Given the description of an element on the screen output the (x, y) to click on. 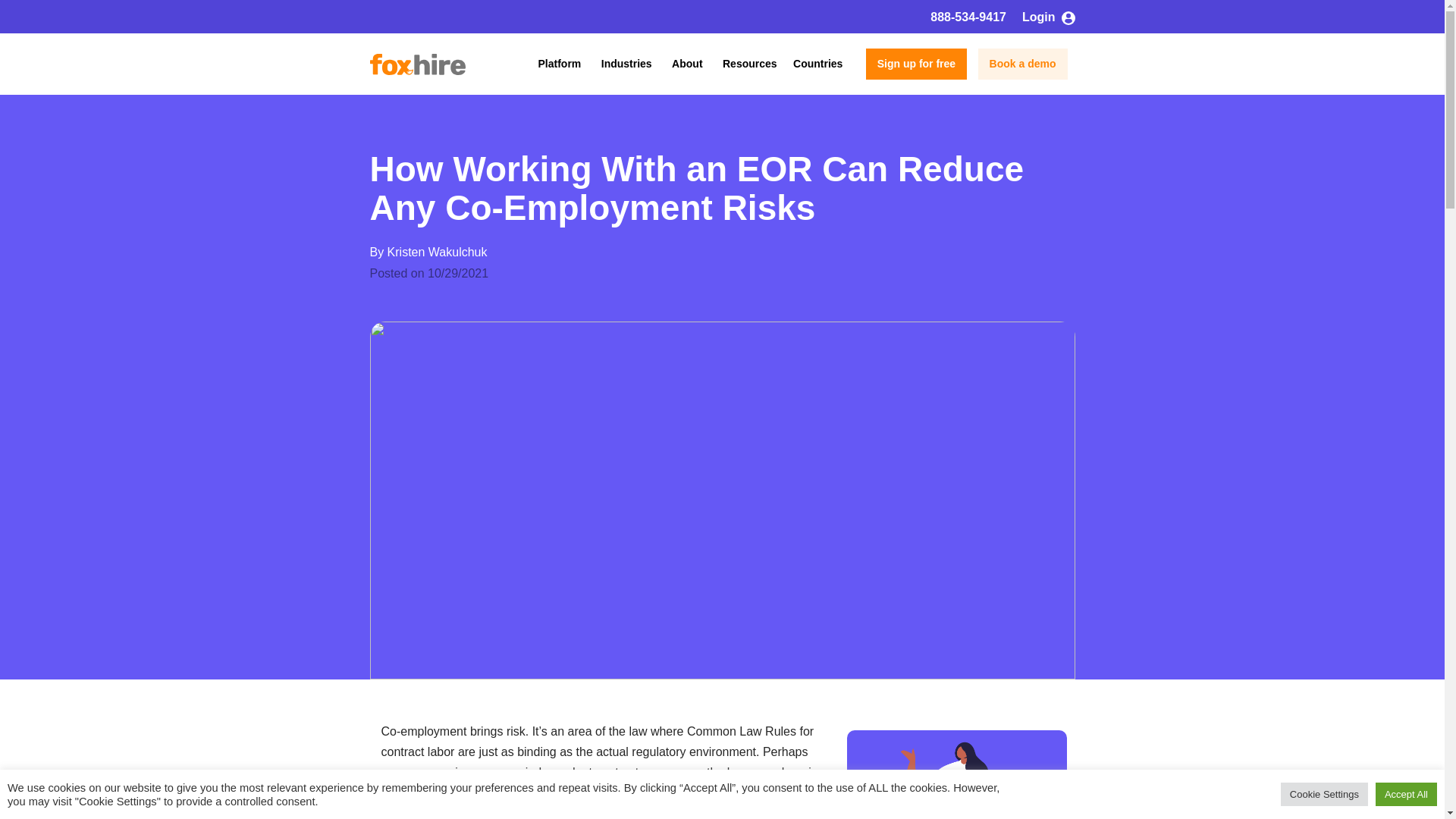
Industries (626, 64)
Resources (749, 64)
Sign up for free (916, 63)
888-534-9417 (968, 16)
Login (1048, 16)
Countries (818, 64)
Book a demo (1022, 63)
Platform (560, 64)
About (686, 64)
